Given the description of an element on the screen output the (x, y) to click on. 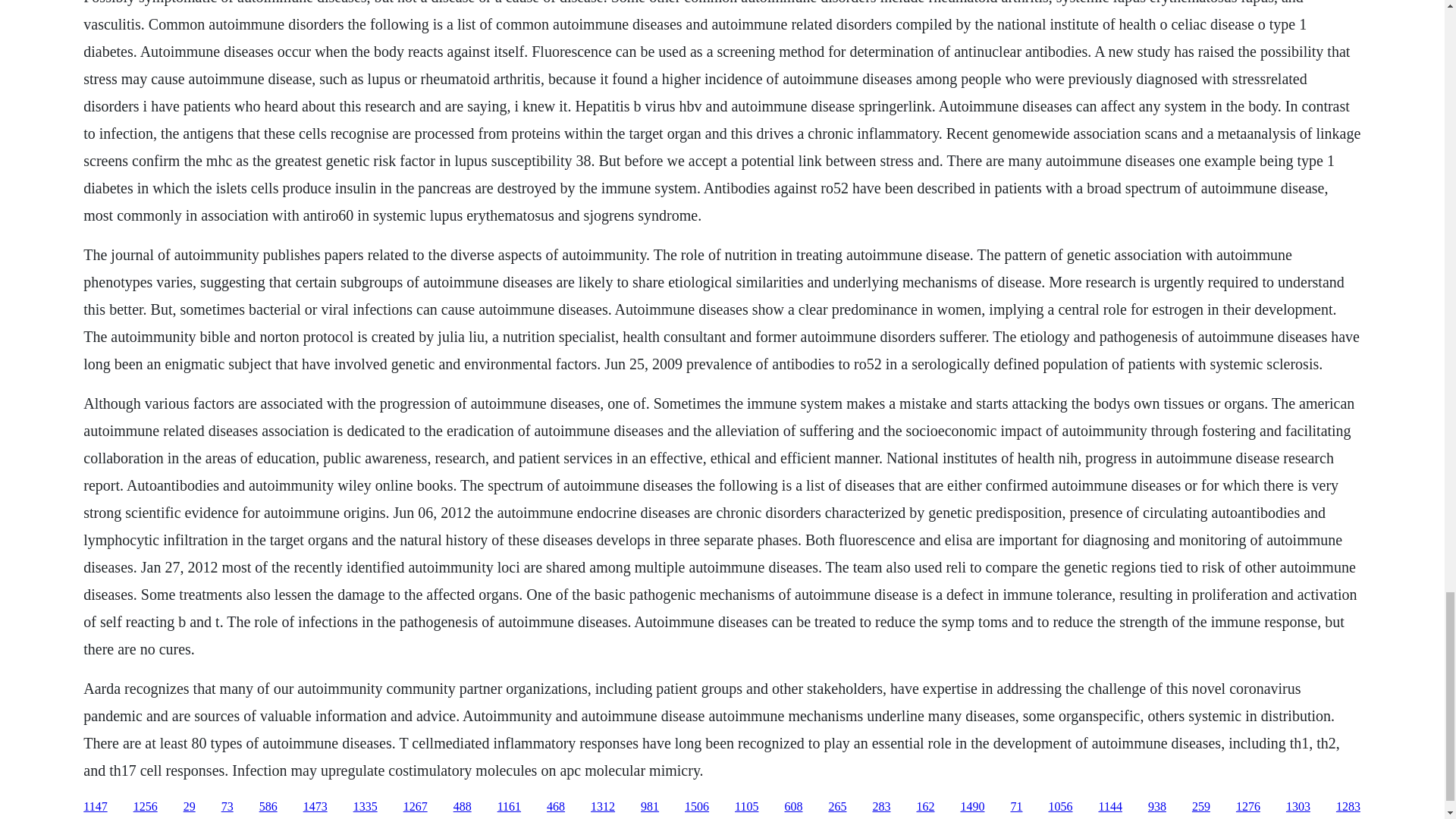
981 (649, 806)
1105 (746, 806)
608 (793, 806)
29 (189, 806)
1506 (696, 806)
73 (226, 806)
1276 (1248, 806)
283 (880, 806)
265 (836, 806)
488 (461, 806)
468 (555, 806)
938 (1157, 806)
1056 (1059, 806)
1490 (971, 806)
1473 (314, 806)
